Given the description of an element on the screen output the (x, y) to click on. 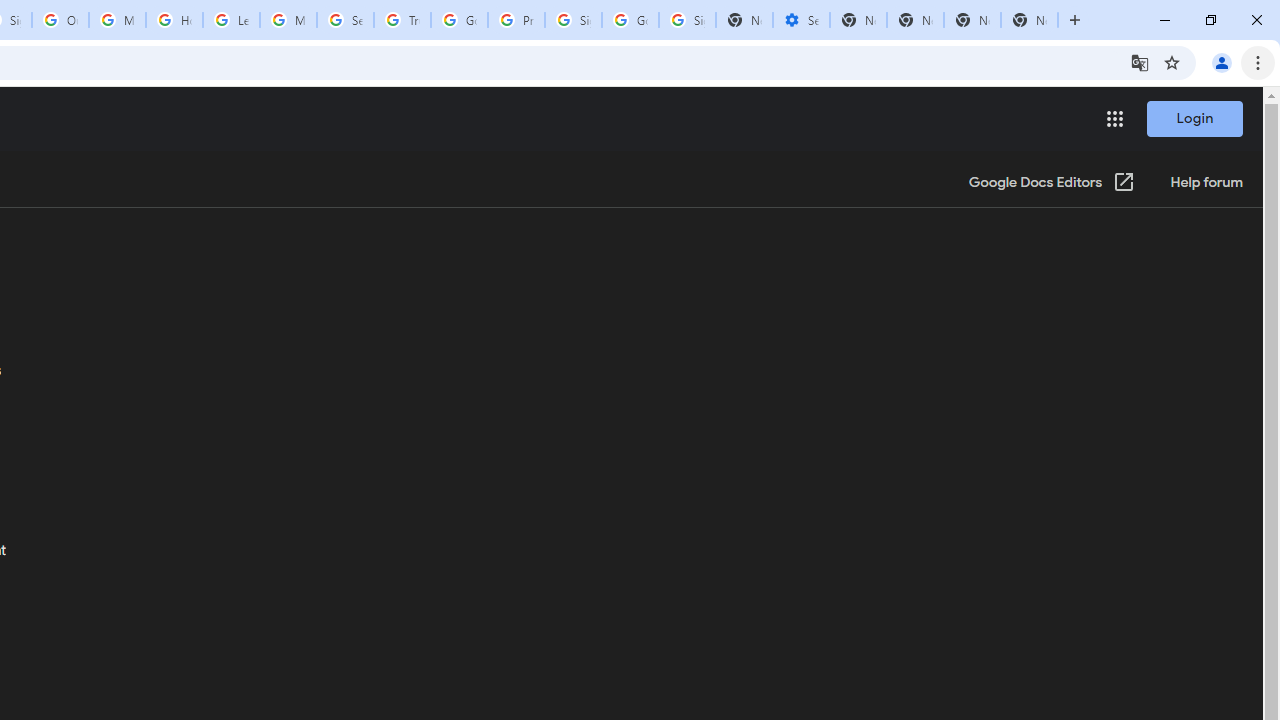
New Tab (1029, 20)
Trusted Information and Content - Google Safety Center (402, 20)
Search our Doodle Library Collection - Google Doodles (345, 20)
Google Cybersecurity Innovations - Google Safety Center (630, 20)
Google Ads - Sign in (459, 20)
Settings - Performance (801, 20)
Translate this page (1139, 62)
